Given the description of an element on the screen output the (x, y) to click on. 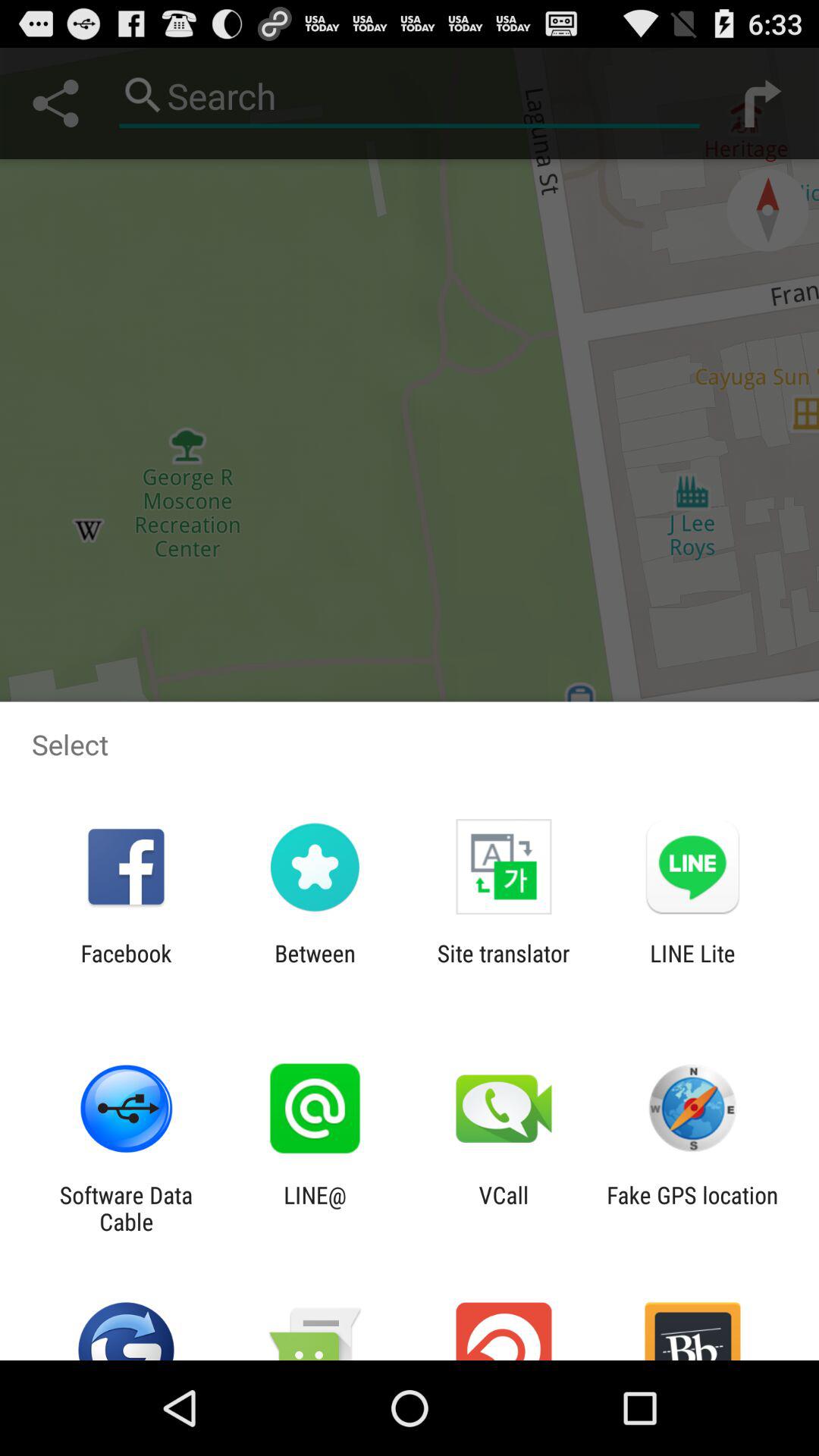
choose the icon to the left of line@ item (125, 1208)
